Given the description of an element on the screen output the (x, y) to click on. 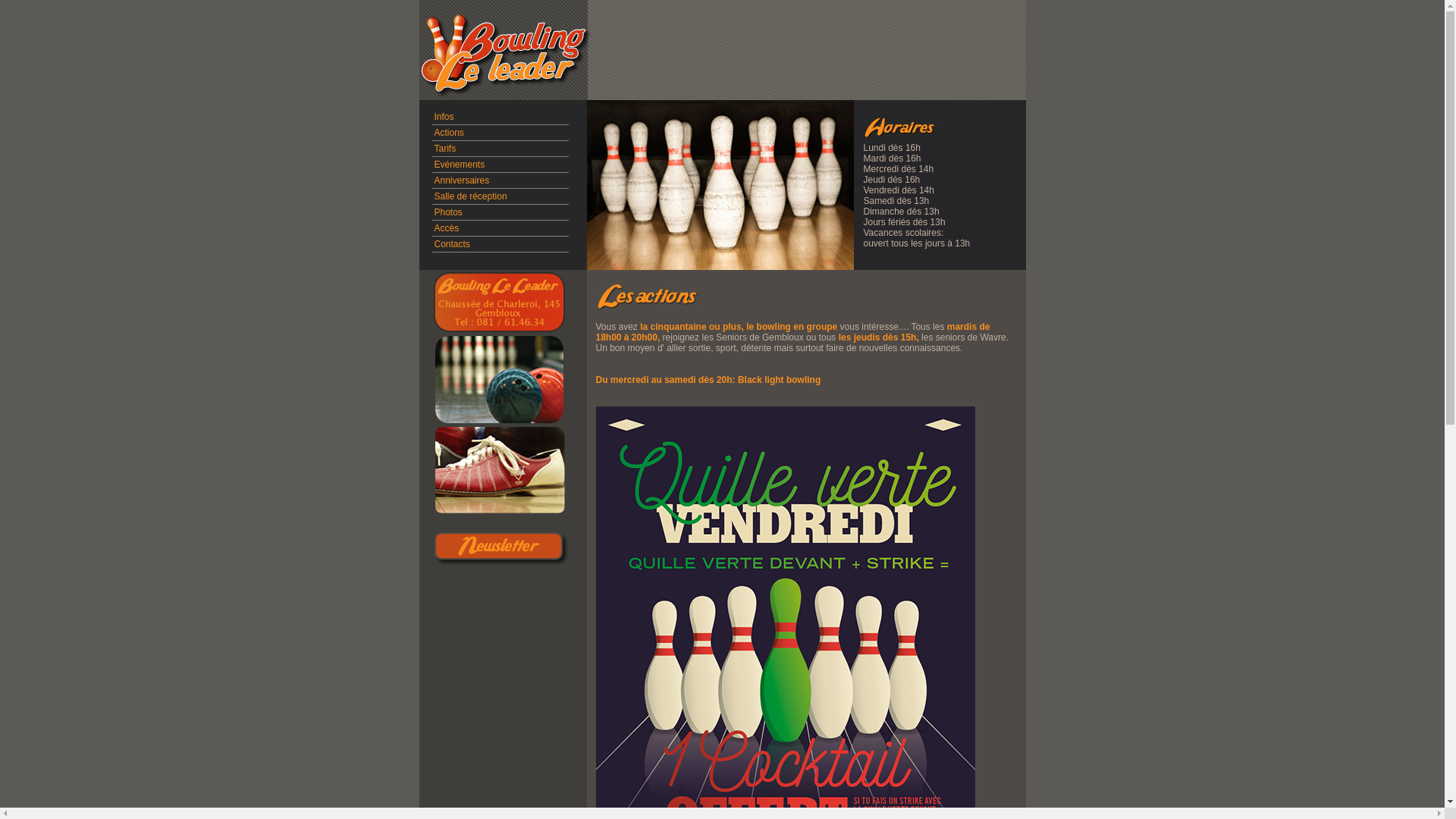
Actions Element type: text (448, 132)
Tarifs Element type: text (444, 148)
Contacts Element type: text (451, 243)
Photos Element type: text (447, 212)
Anniversaires Element type: text (461, 180)
Infos Element type: text (443, 116)
